Given the description of an element on the screen output the (x, y) to click on. 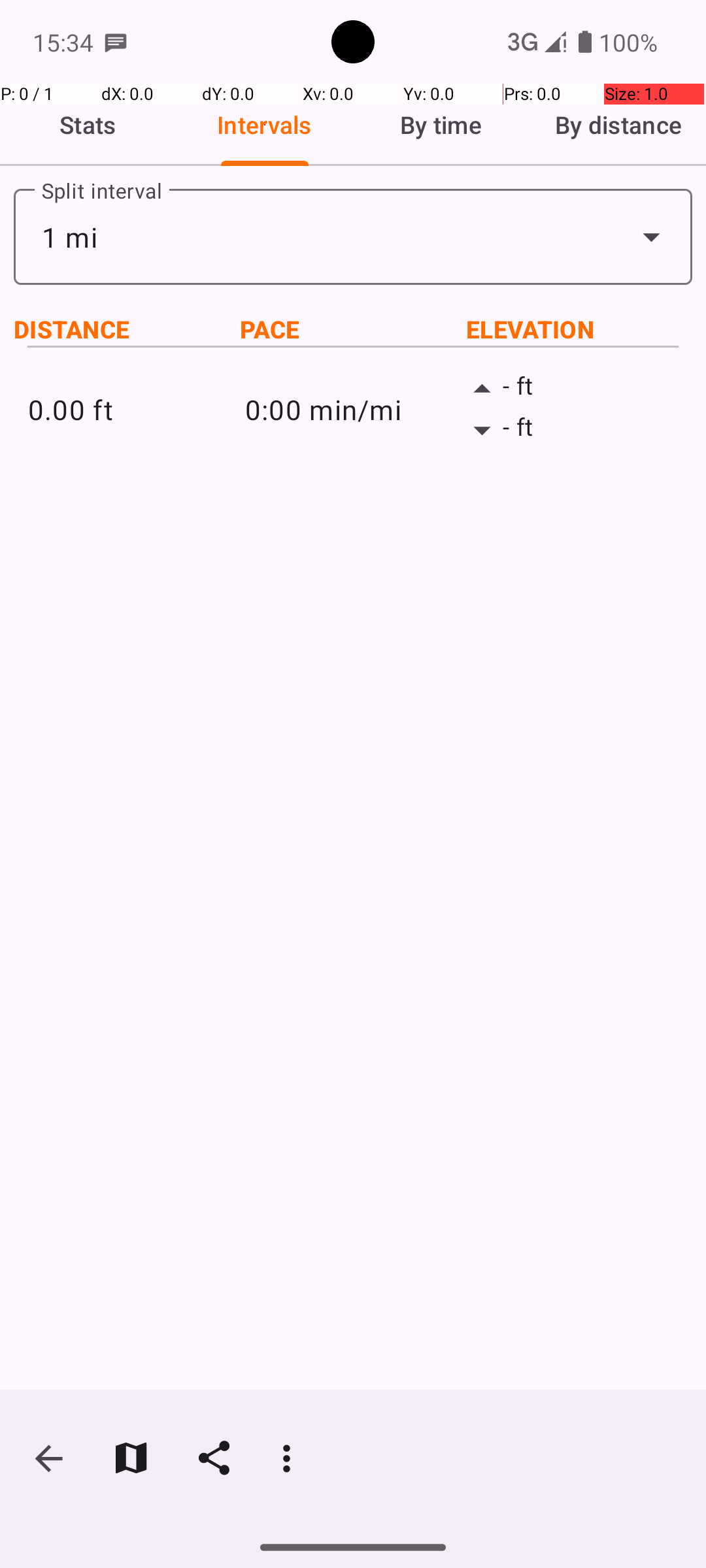
1 mi Element type: android.widget.Spinner (352, 236)
PACE Element type: android.widget.TextView (352, 328)
0.00 ft Element type: android.widget.TextView (135, 408)
0:00 min/mi Element type: android.widget.TextView (352, 408)
- ft Element type: android.widget.TextView (569, 388)
